Given the description of an element on the screen output the (x, y) to click on. 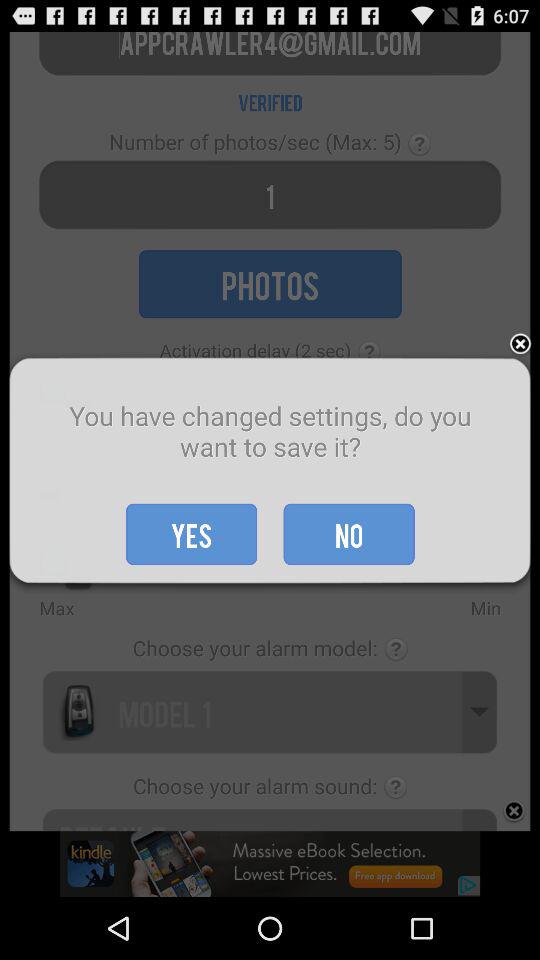
flip until no item (348, 534)
